Given the description of an element on the screen output the (x, y) to click on. 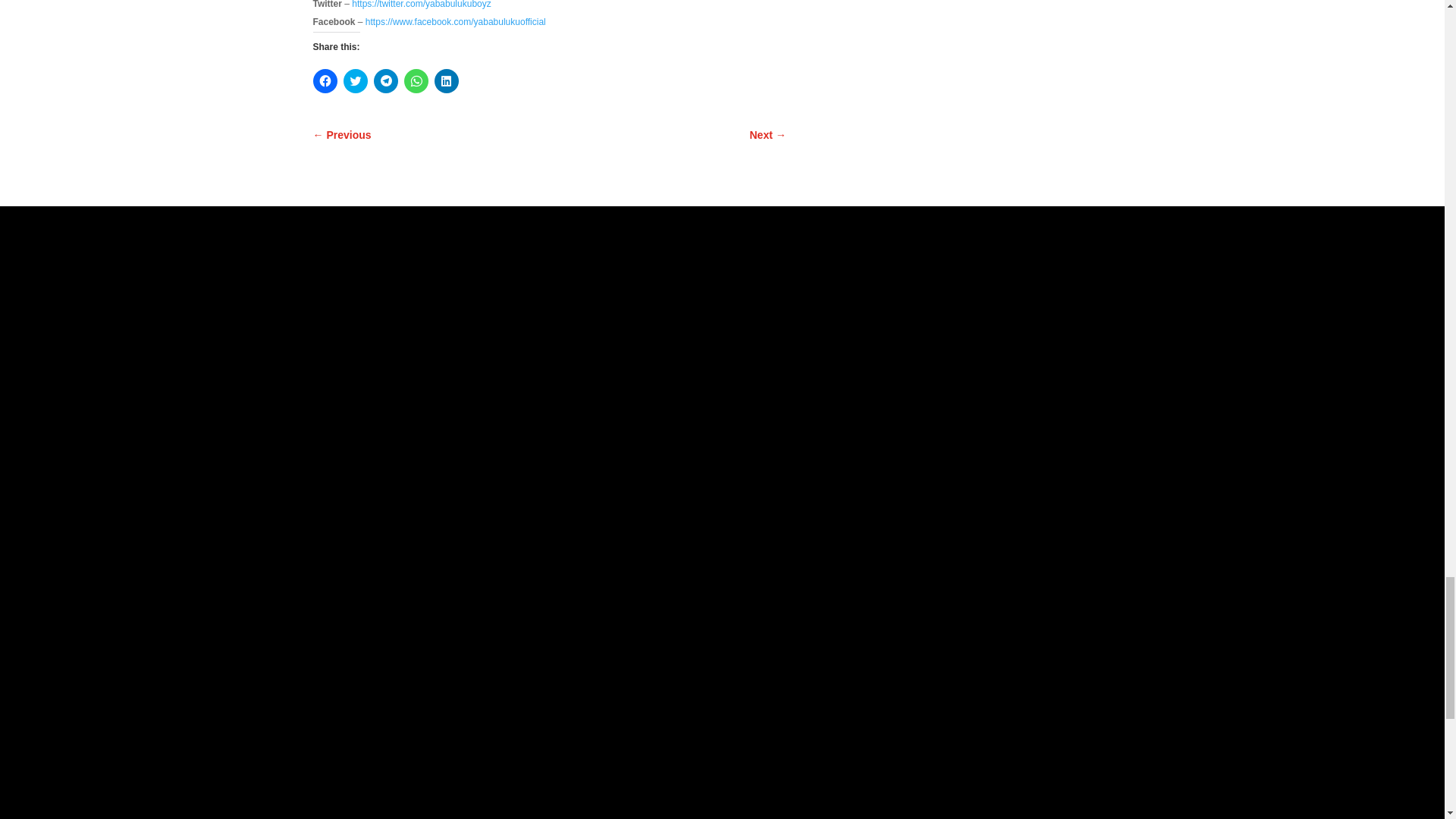
Click to share on Facebook (324, 80)
Click to share on Twitter (354, 80)
Click to share on Telegram (384, 80)
Click to share on WhatsApp (415, 80)
Click to share on LinkedIn (445, 80)
